Given the description of an element on the screen output the (x, y) to click on. 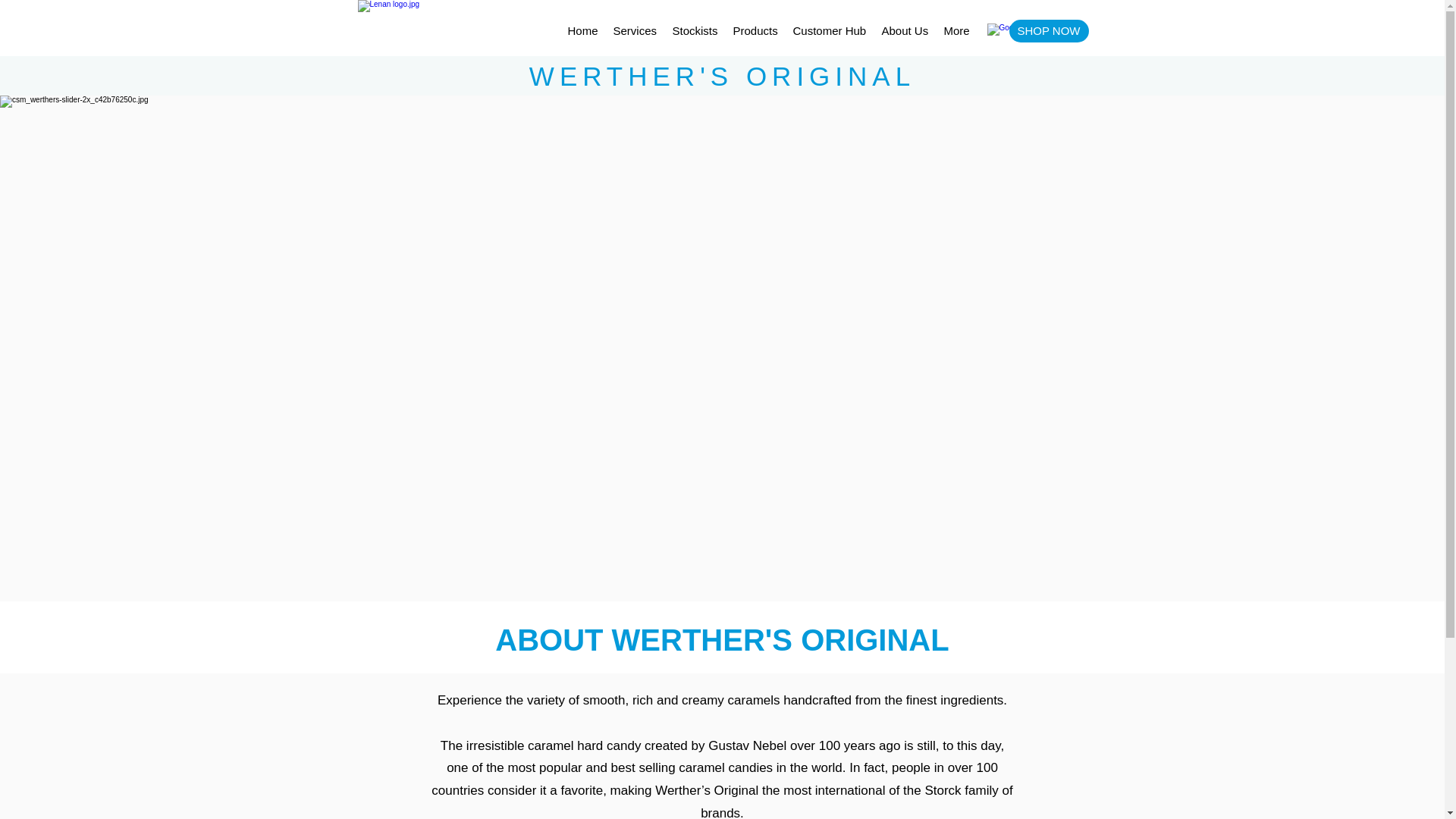
Services (634, 30)
Home (582, 30)
About Us (904, 30)
Products (754, 30)
SHOP NOW (1048, 30)
